Given the description of an element on the screen output the (x, y) to click on. 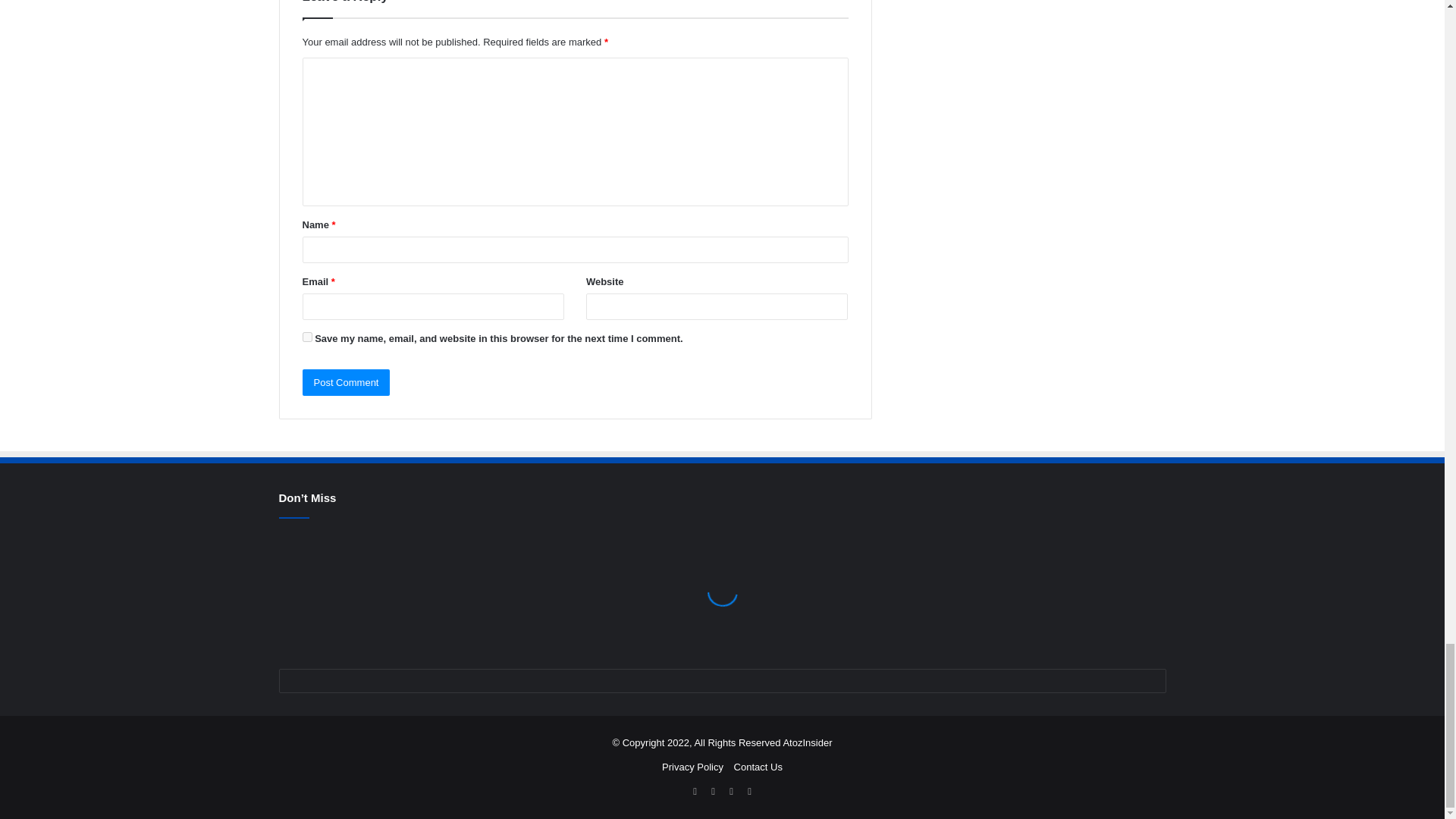
Post Comment (345, 382)
yes (306, 337)
